Given the description of an element on the screen output the (x, y) to click on. 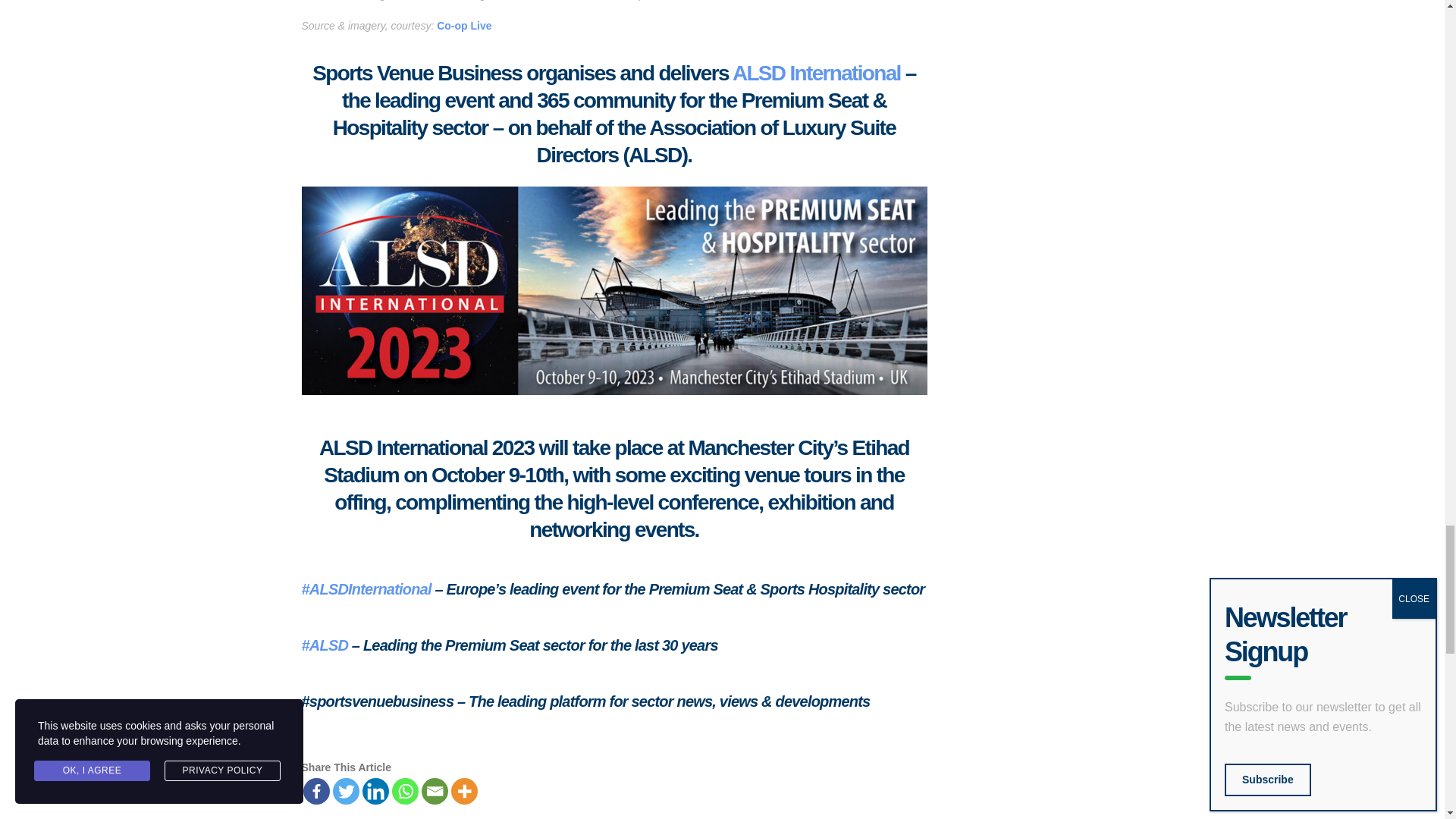
Whatsapp (404, 791)
Email (435, 791)
More (463, 791)
Twitter (344, 791)
Linkedin (375, 791)
Facebook (316, 791)
